Given the description of an element on the screen output the (x, y) to click on. 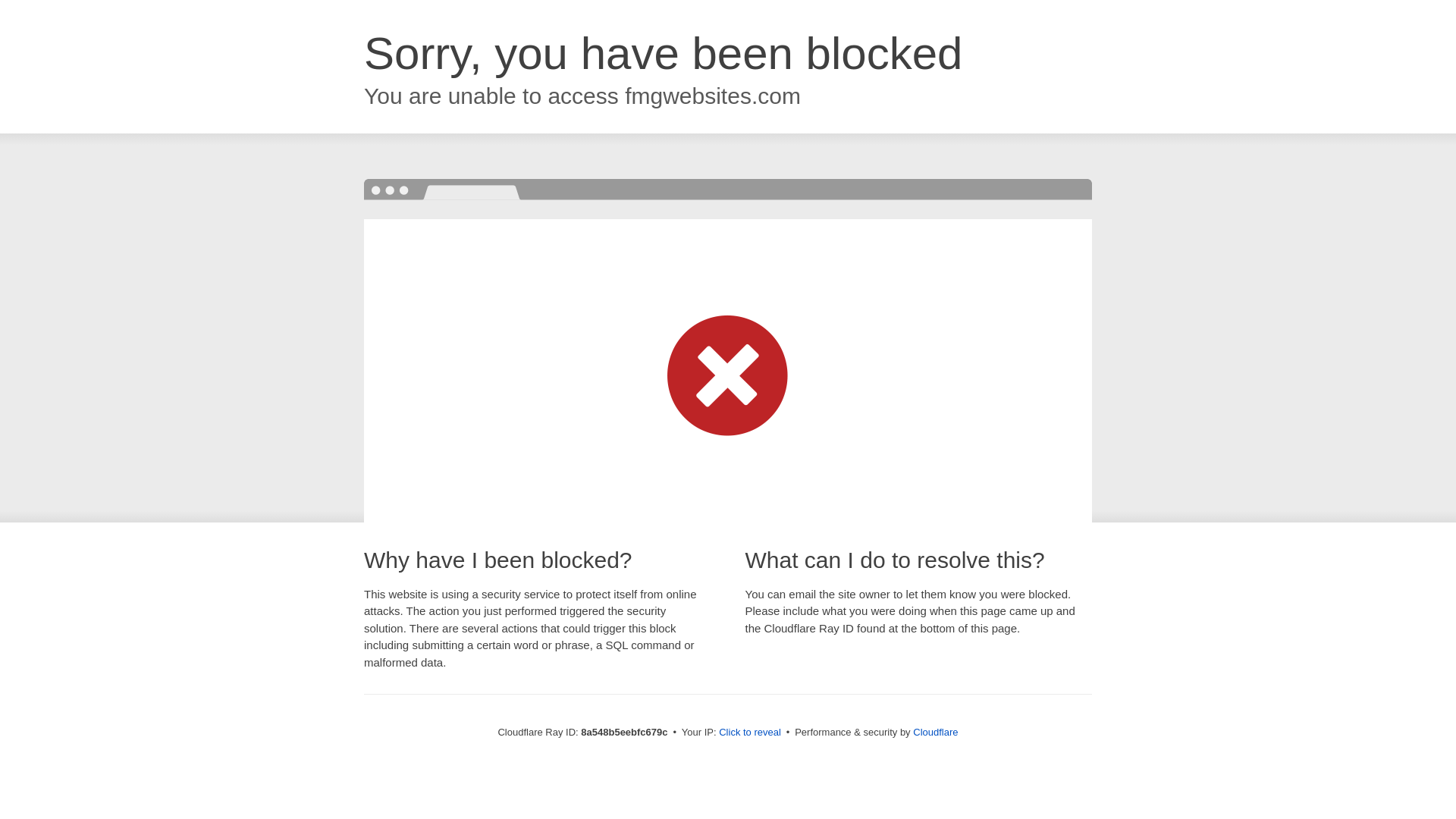
Click to reveal (749, 732)
Cloudflare (935, 731)
